Given the description of an element on the screen output the (x, y) to click on. 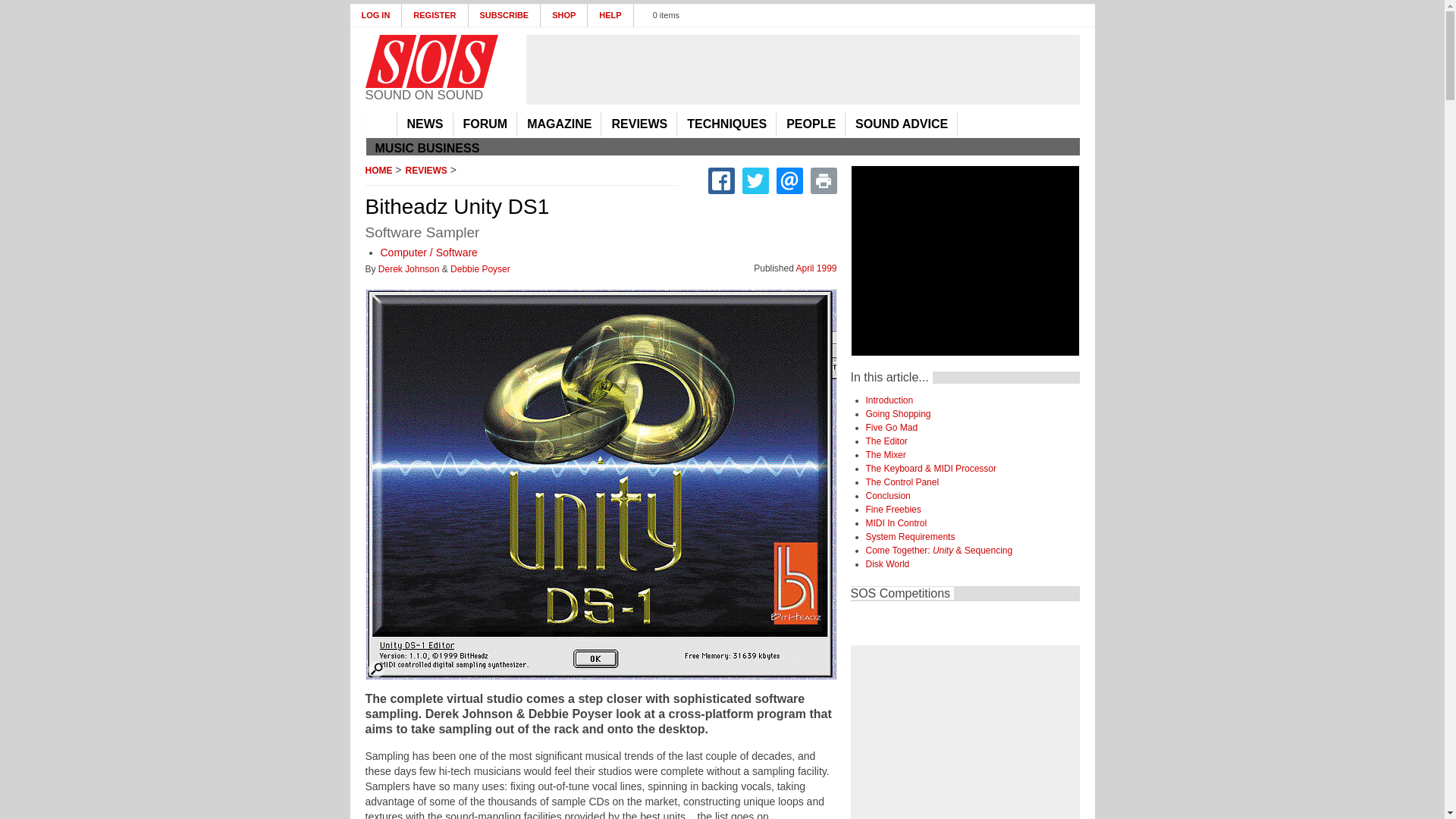
REGISTER (434, 15)
HELP (610, 15)
SUBSCRIBE (504, 15)
Home (431, 61)
NEWS (424, 124)
SHOP (564, 15)
MAGAZINE (558, 124)
FORUM (484, 124)
LOG IN (376, 15)
REVIEWS (639, 124)
